Given the description of an element on the screen output the (x, y) to click on. 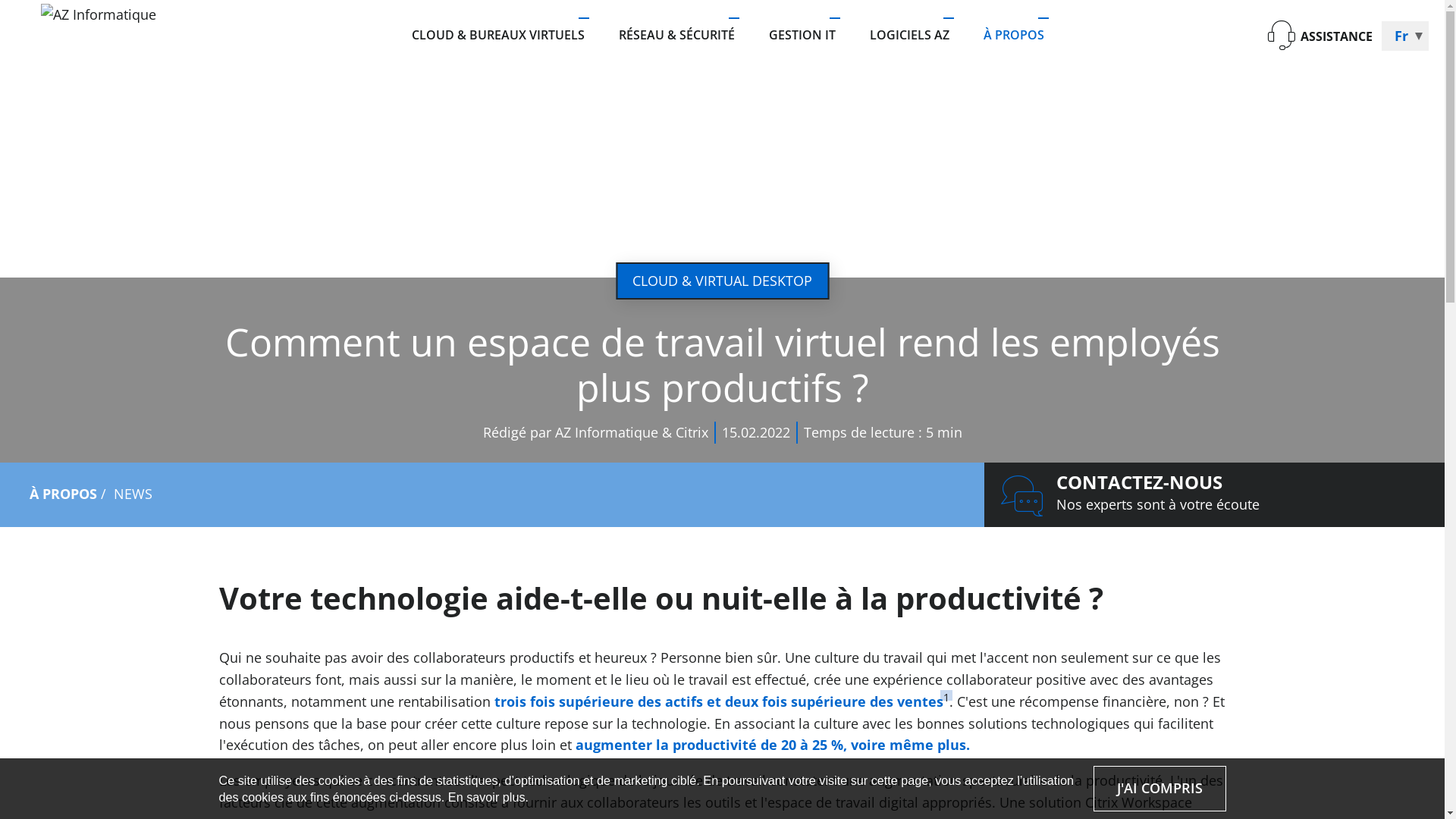
LOGICIELS AZ Element type: text (909, 36)
J'AI COMPRIS Element type: text (1159, 788)
CLOUD & BUREAUX VIRTUELS Element type: text (505, 36)
Fr Element type: text (1404, 35)
GESTION IT Element type: text (801, 36)
ASSISTANCE Element type: text (1319, 35)
